Given the description of an element on the screen output the (x, y) to click on. 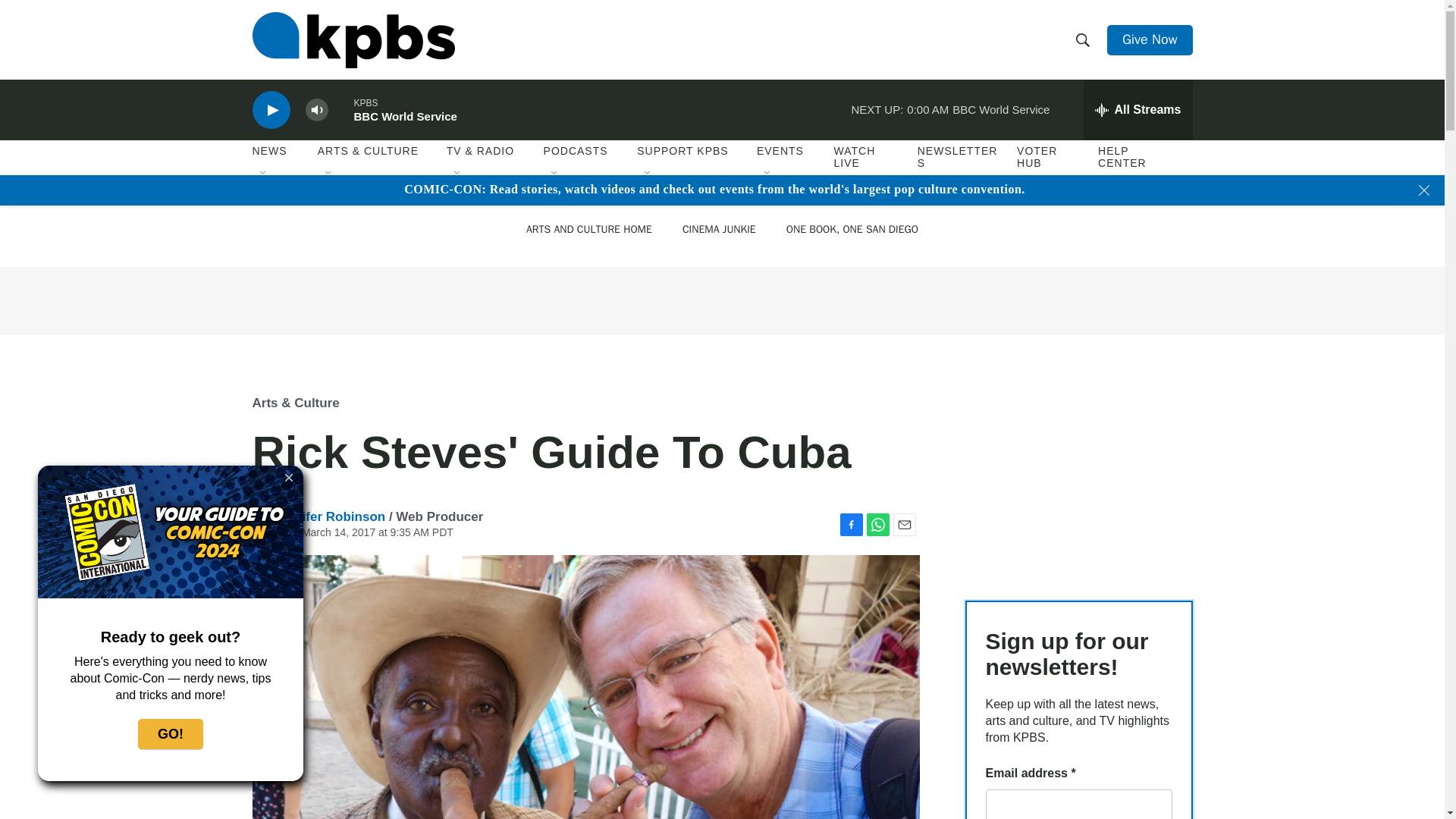
3rd party ad content (721, 300)
